Given the description of an element on the screen output the (x, y) to click on. 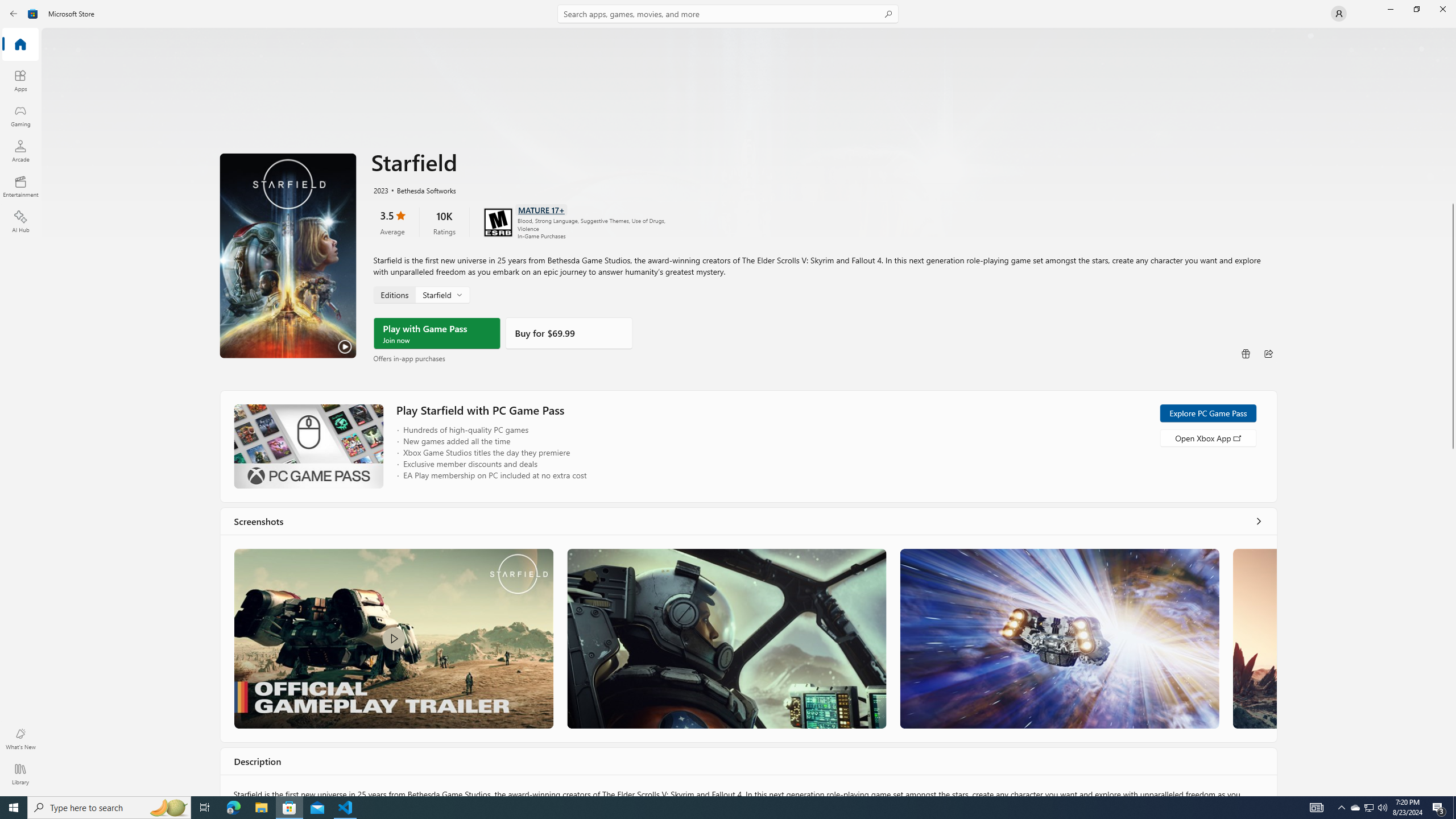
Vertical Small Decrease (1452, 31)
Search (727, 13)
Back (13, 13)
Vertical Large Increase (1452, 618)
Vertical (1452, 412)
Screenshot 2 (725, 638)
Arcade (20, 150)
What's New (20, 738)
Play Trailer (287, 255)
Vertical Small Increase (1452, 792)
Class: Image (393, 638)
Minimize Microsoft Store (1390, 9)
Age rating: MATURE 17+. Click for more information. (540, 208)
Open Xbox App (1207, 437)
Gameplay Trailer (393, 638)
